Given the description of an element on the screen output the (x, y) to click on. 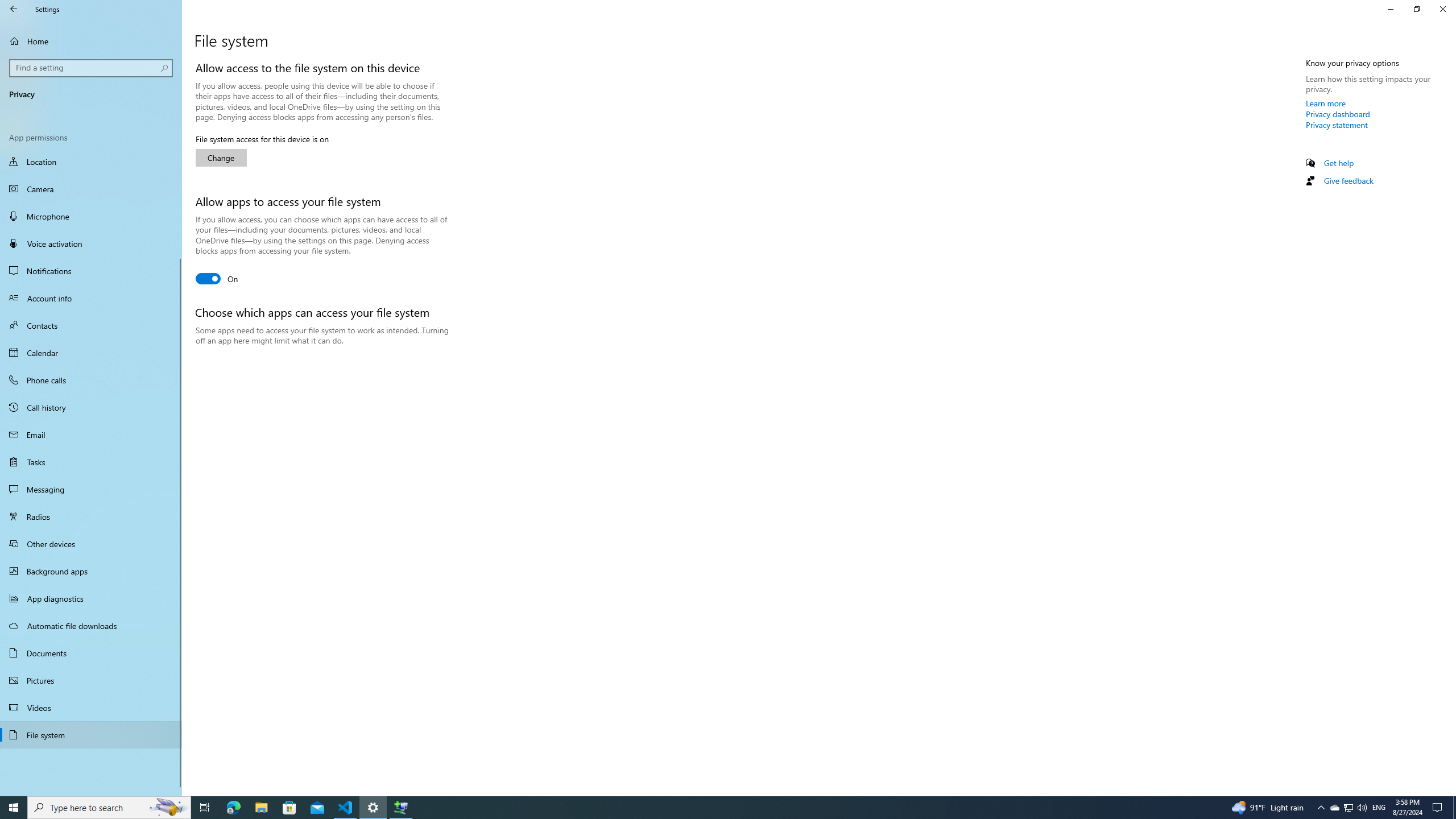
Background apps (91, 570)
Call history (91, 406)
Contacts (91, 325)
Automatic file downloads (91, 625)
Other devices (91, 543)
Change (221, 157)
File system (91, 734)
Privacy statement (1336, 124)
Location (91, 162)
